Given the description of an element on the screen output the (x, y) to click on. 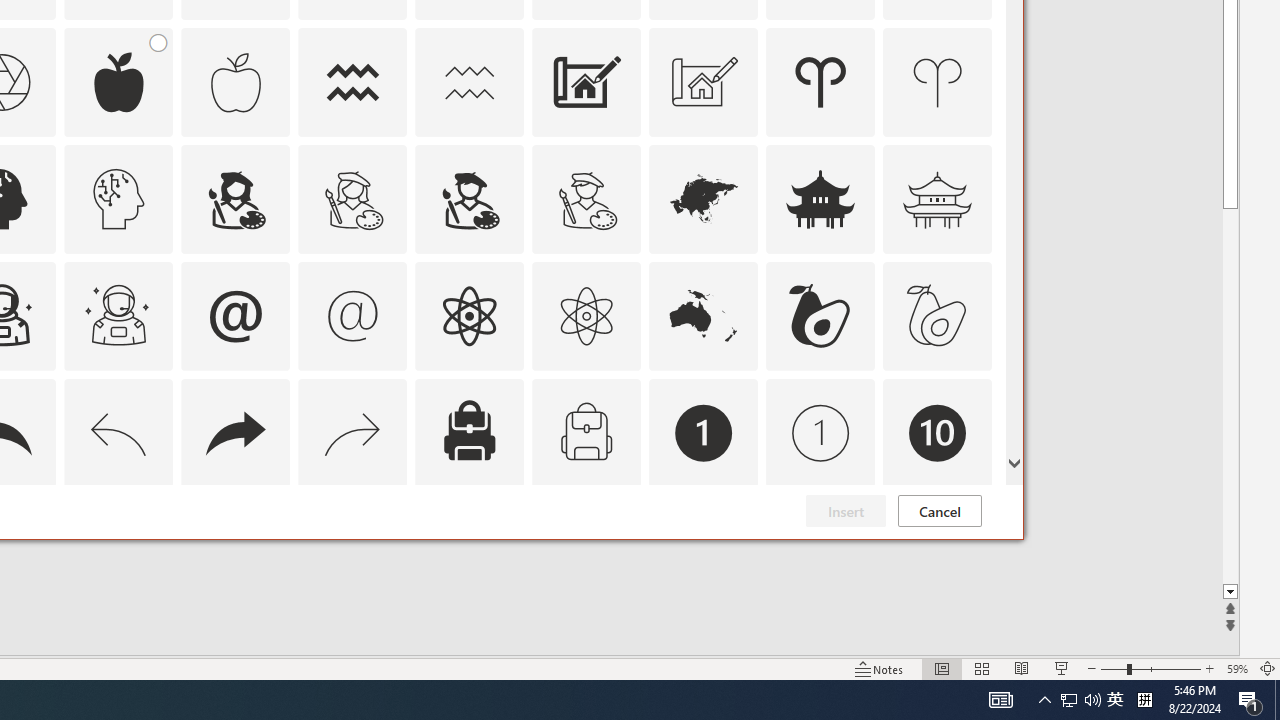
AutomationID: Icons_At (235, 316)
AutomationID: Icons_Aquarius (353, 82)
AutomationID: Icons_Back_RTL (235, 432)
AutomationID: Icons_AstronautMale_M (118, 316)
Zoom 59% (1236, 668)
AutomationID: Icons_Backpack_M (586, 432)
AutomationID: Icons_AsianTemple (820, 198)
Cancel (939, 511)
